Given the description of an element on the screen output the (x, y) to click on. 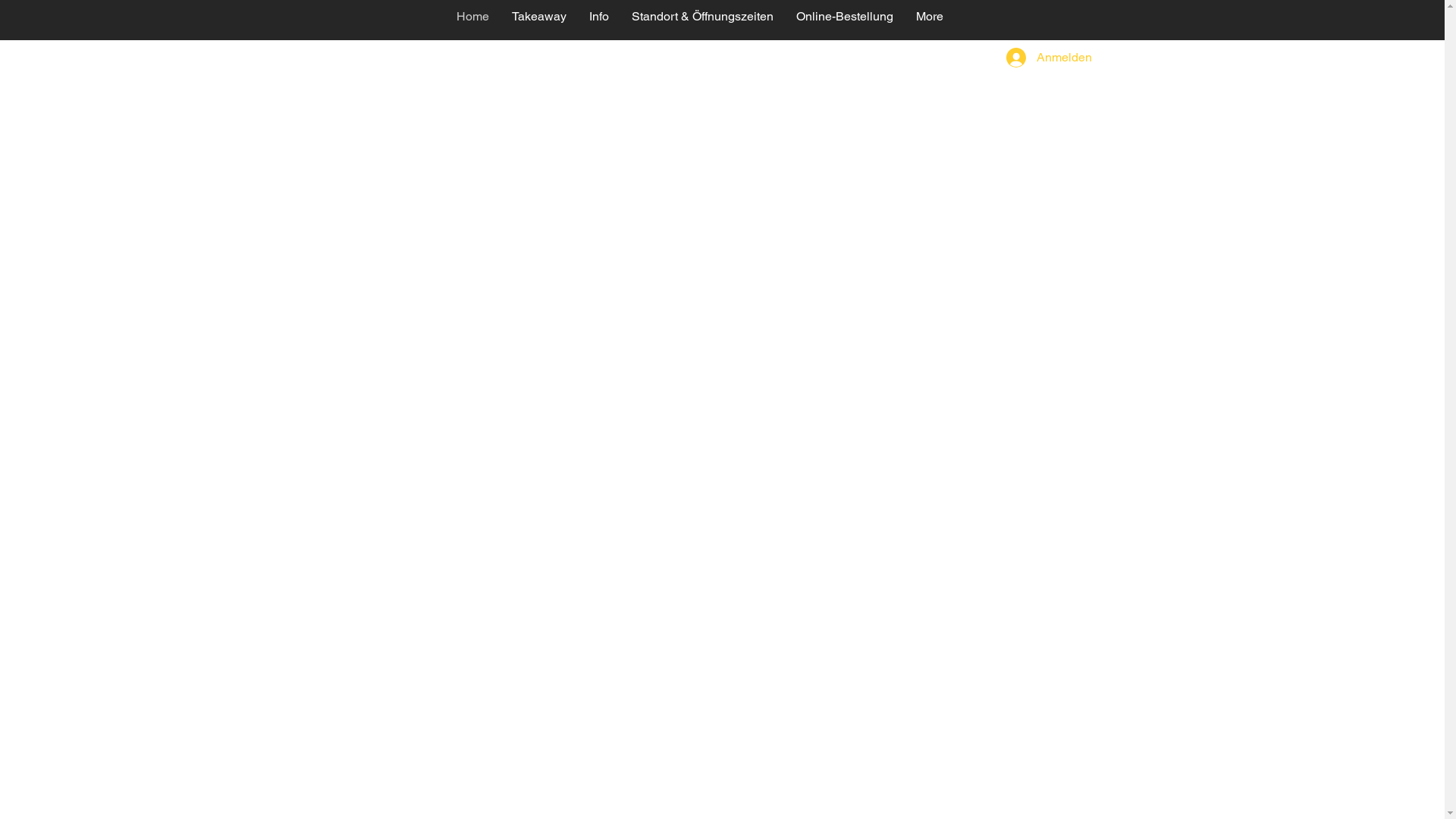
Takeaway Element type: text (538, 19)
Online-Bestellung Element type: text (843, 19)
Home Element type: text (471, 19)
Anmelden Element type: text (1039, 57)
Info Element type: text (598, 19)
